Given the description of an element on the screen output the (x, y) to click on. 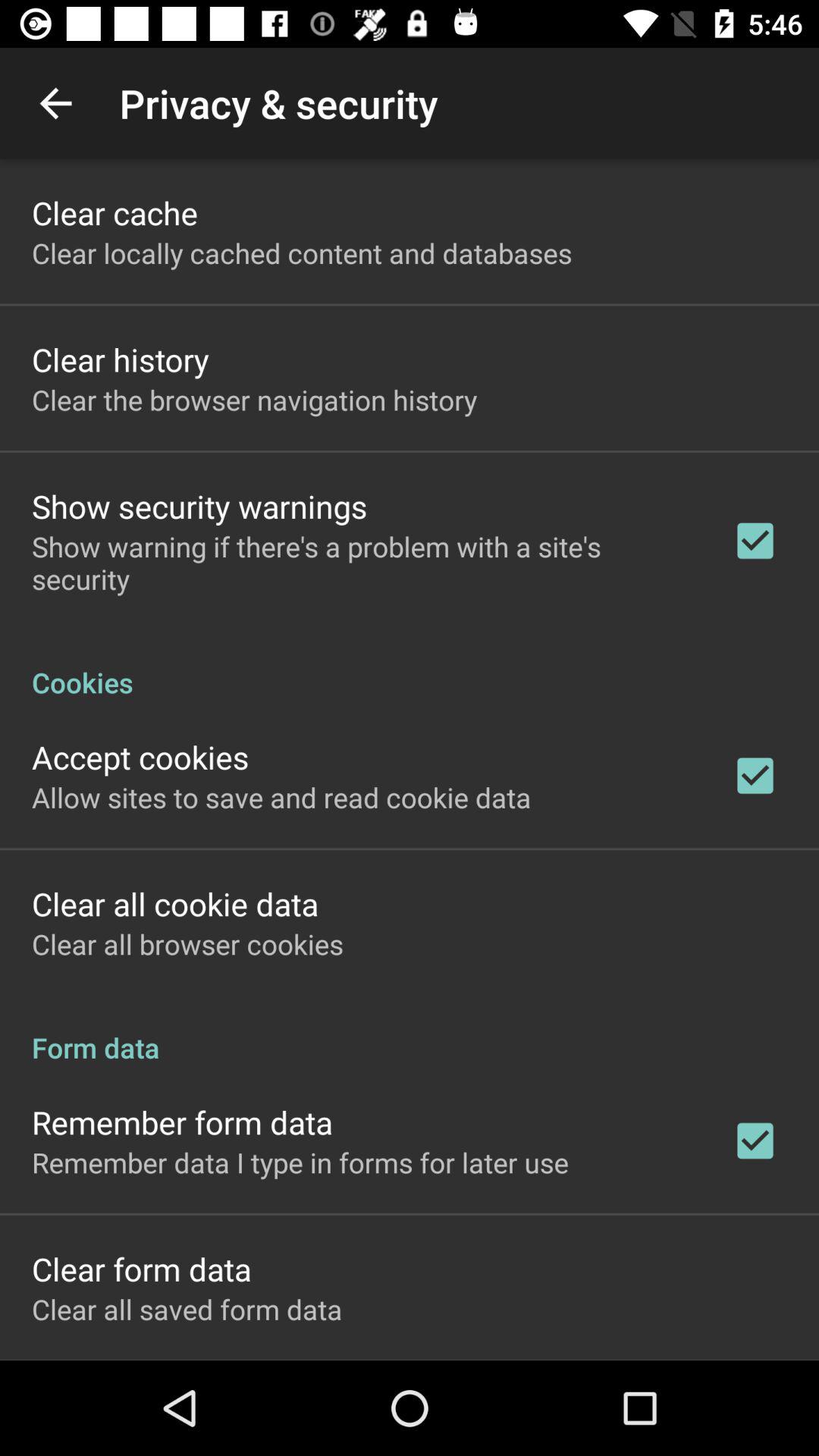
click the app above cookies icon (361, 562)
